Given the description of an element on the screen output the (x, y) to click on. 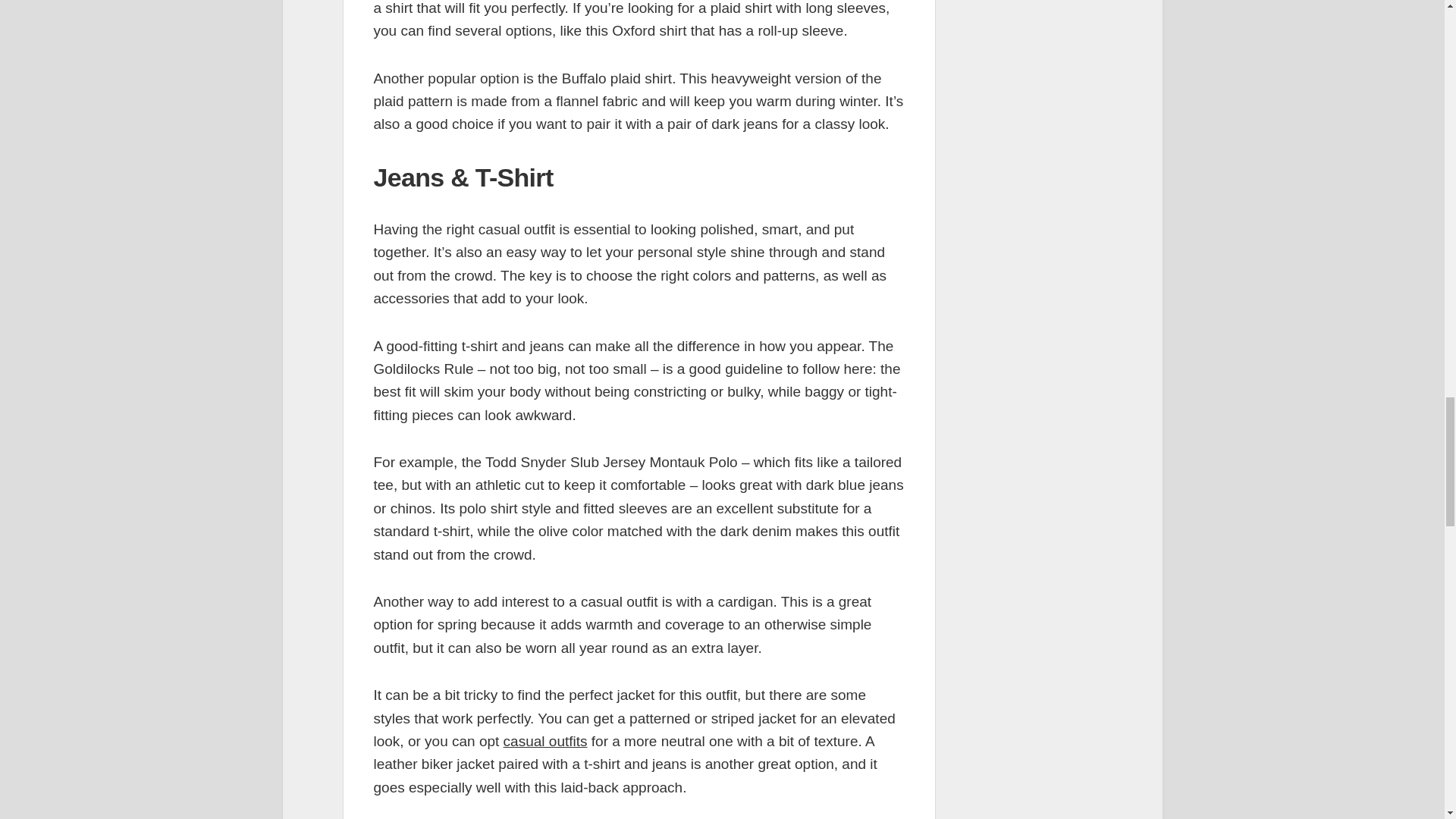
casual outfits (545, 741)
